Given the description of an element on the screen output the (x, y) to click on. 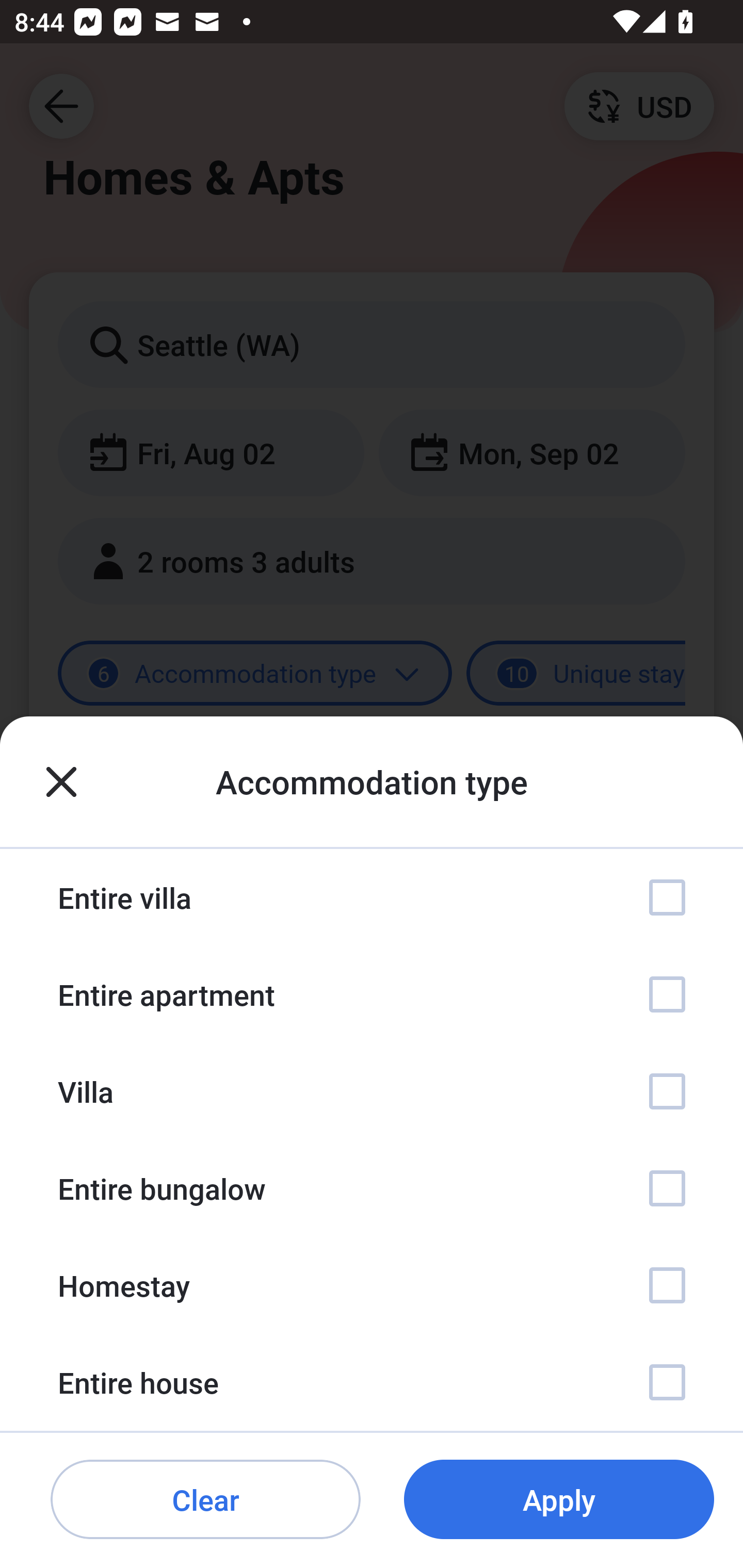
Entire villa (371, 897)
Entire apartment (371, 994)
Villa (371, 1091)
Entire bungalow (371, 1188)
Homestay (371, 1284)
Entire house (371, 1382)
Clear (205, 1499)
Apply (559, 1499)
